Given the description of an element on the screen output the (x, y) to click on. 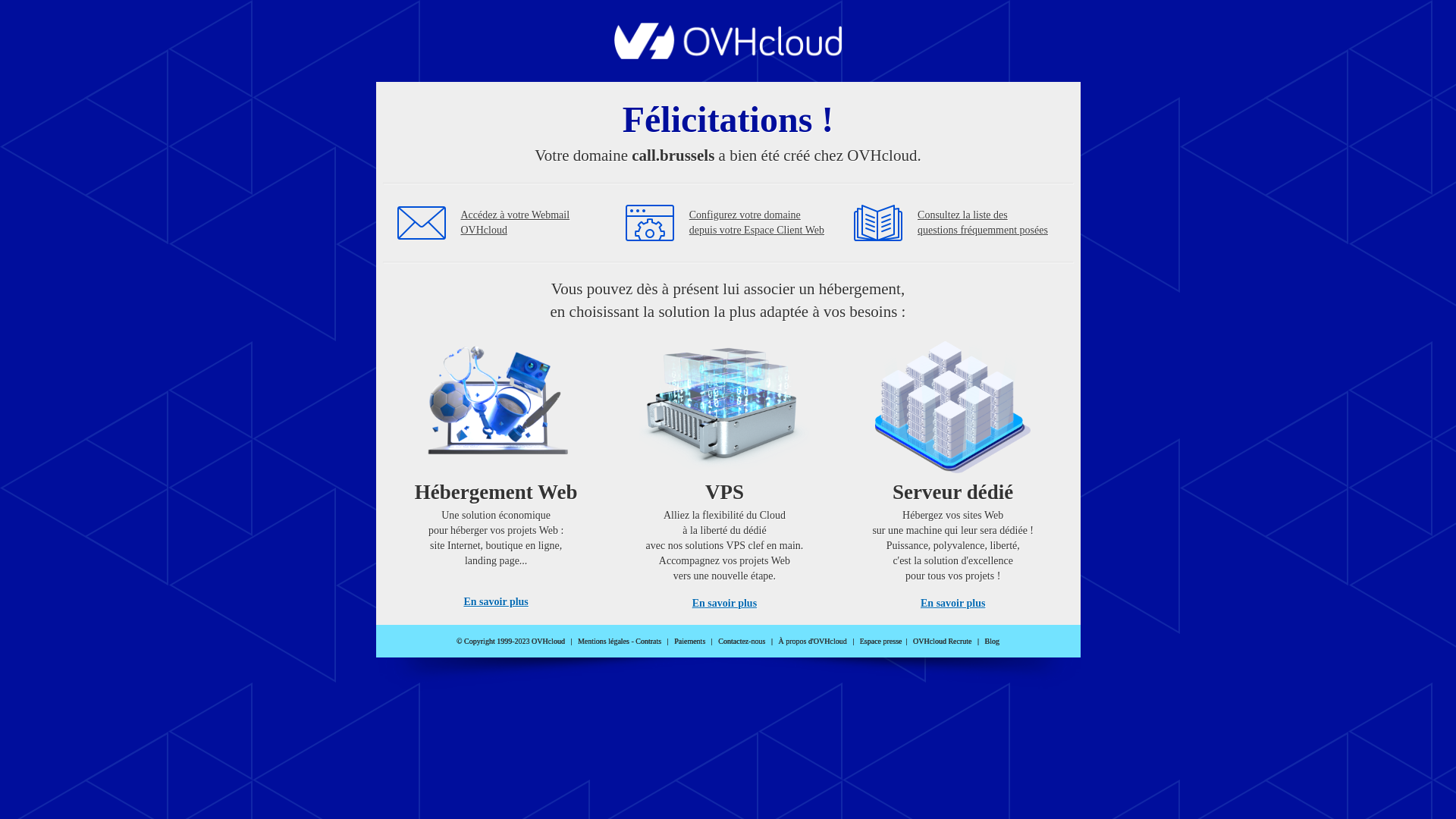
VPS Element type: hover (724, 469)
Blog Element type: text (992, 641)
Configurez votre domaine
depuis votre Espace Client Web Element type: text (756, 222)
Contactez-nous Element type: text (741, 641)
Paiements Element type: text (689, 641)
En savoir plus Element type: text (724, 602)
OVHcloud Element type: hover (727, 54)
En savoir plus Element type: text (495, 601)
Espace presse Element type: text (880, 641)
OVHcloud Recrute Element type: text (942, 641)
En savoir plus Element type: text (952, 602)
